Given the description of an element on the screen output the (x, y) to click on. 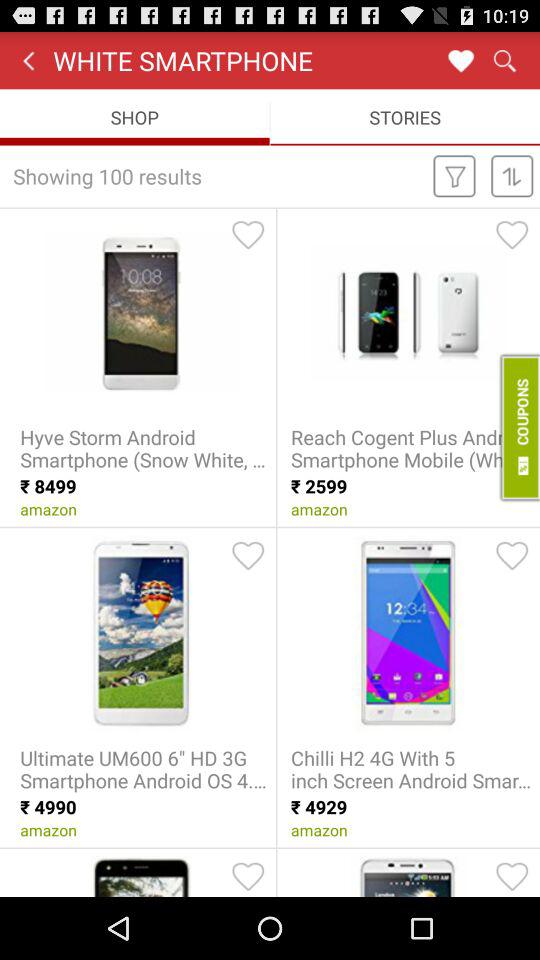
favorite this item (512, 876)
